Given the description of an element on the screen output the (x, y) to click on. 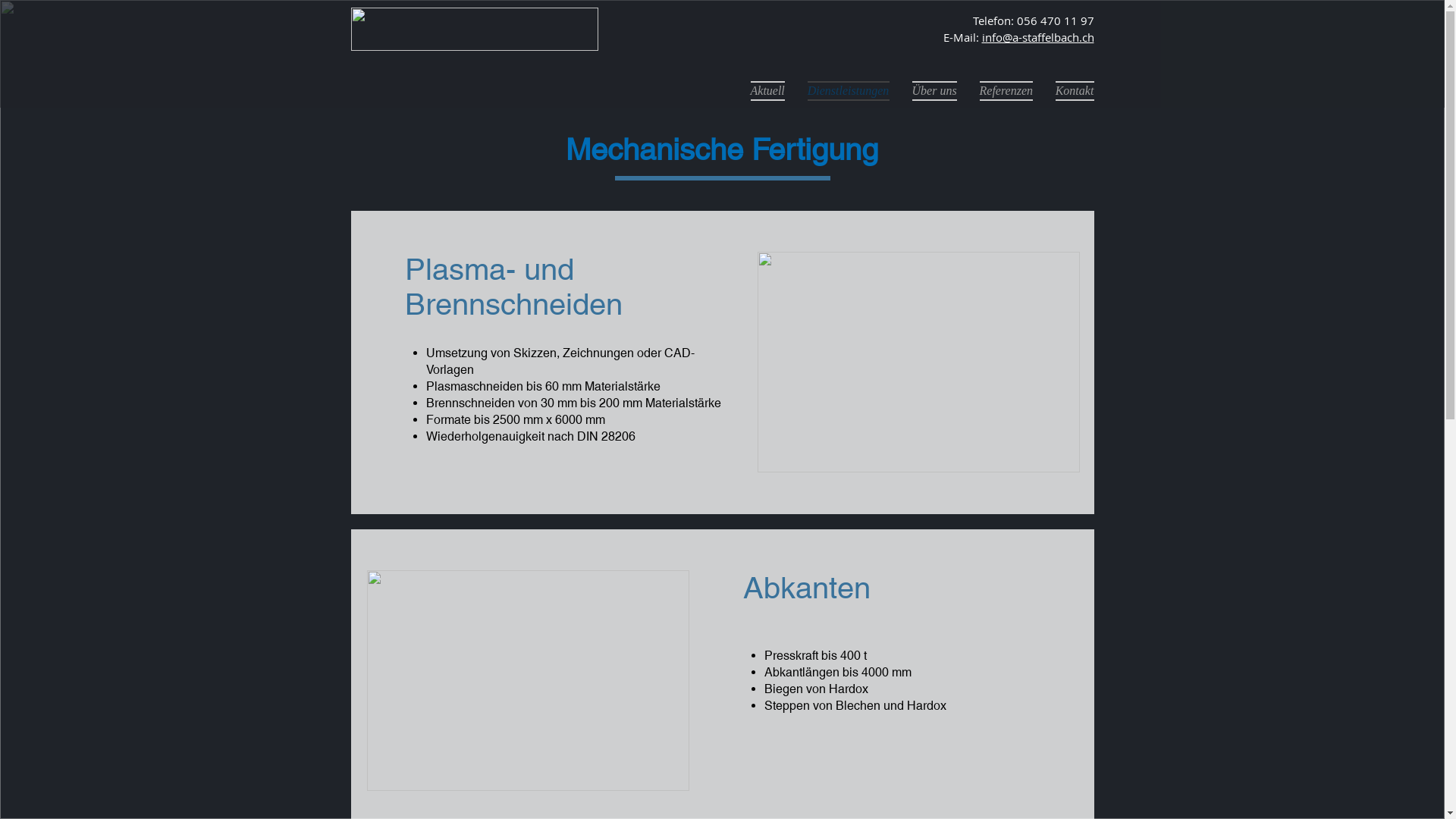
Logo_Staffelbach_3f_positiv_nur_logo.png Element type: hover (473, 28)
info@a-staffelbach.ch Element type: text (1037, 36)
Aktuell Element type: text (766, 89)
Kontakt Element type: text (1068, 89)
Dienstleistungen Element type: text (848, 89)
Referenzen Element type: text (1005, 89)
